Given the description of an element on the screen output the (x, y) to click on. 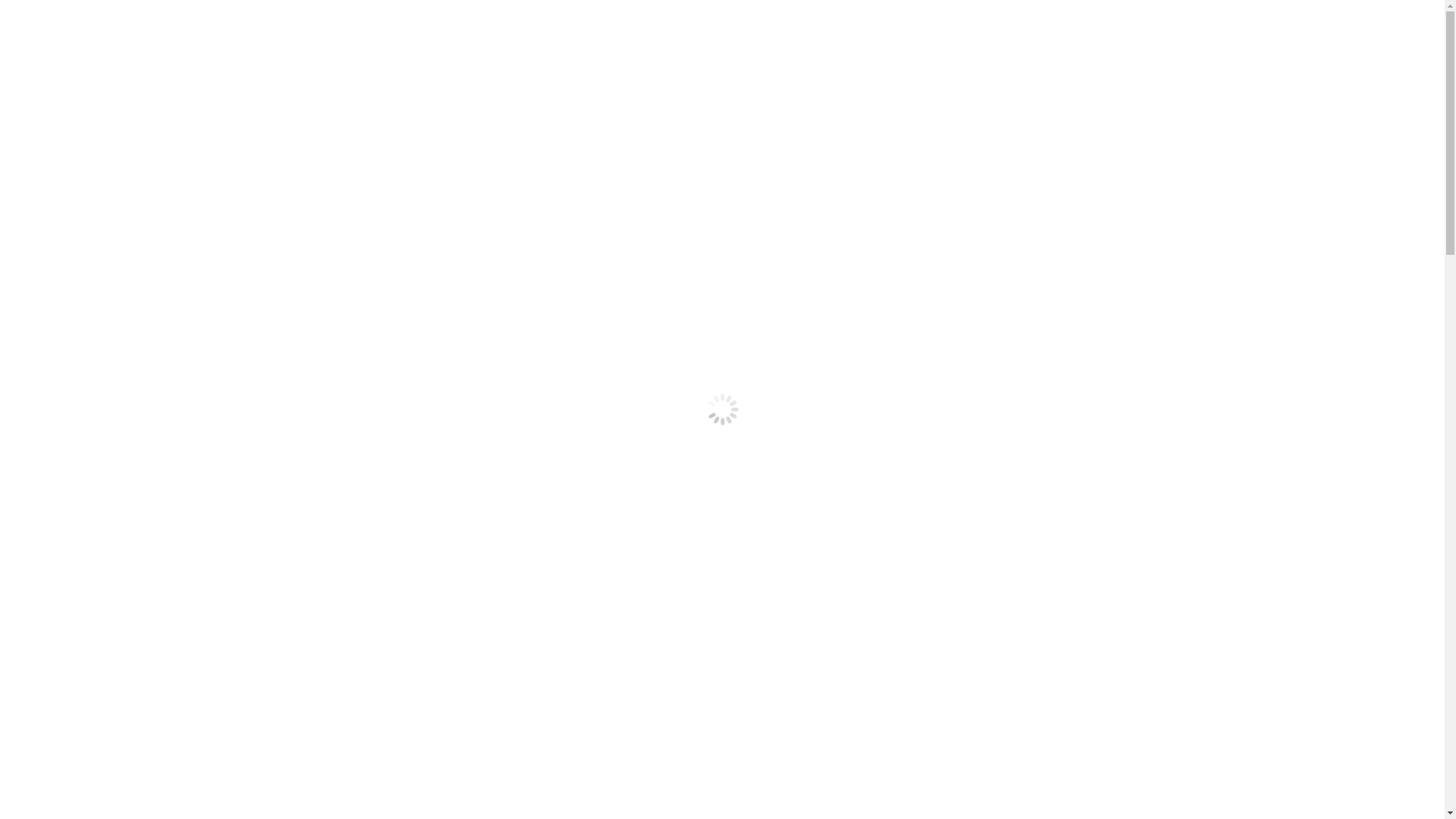
wc_admin_unsnooze_admin_notes Element type: text (1036, 471)
BEHANDELINGEN Element type: text (197, 46)
wc_admin_unsnooze_admin_notes Element type: text (1036, 515)
Ongecategoriseerd Element type: text (997, 805)
wc_admin_unsnooze_admin_notes Element type: text (1036, 383)
januari 2020 Element type: text (981, 694)
Stefanie Vereecken Element type: text (521, 676)
INSPIRATIE Element type: text (299, 46)
INFO Element type: text (425, 46)
augustus 2020 Element type: text (986, 669)
wc_admin_unsnooze_admin_notes Element type: text (1036, 559)
6 januari 20208 augustus 2020 Element type: text (375, 676)
wc_admin_unsnooze_admin_notes Element type: text (1036, 427)
Digital aging Element type: text (981, 254)
CONTACT Element type: text (489, 46)
ONLINE AFSPRAAK Element type: text (585, 46)
